Given the description of an element on the screen output the (x, y) to click on. 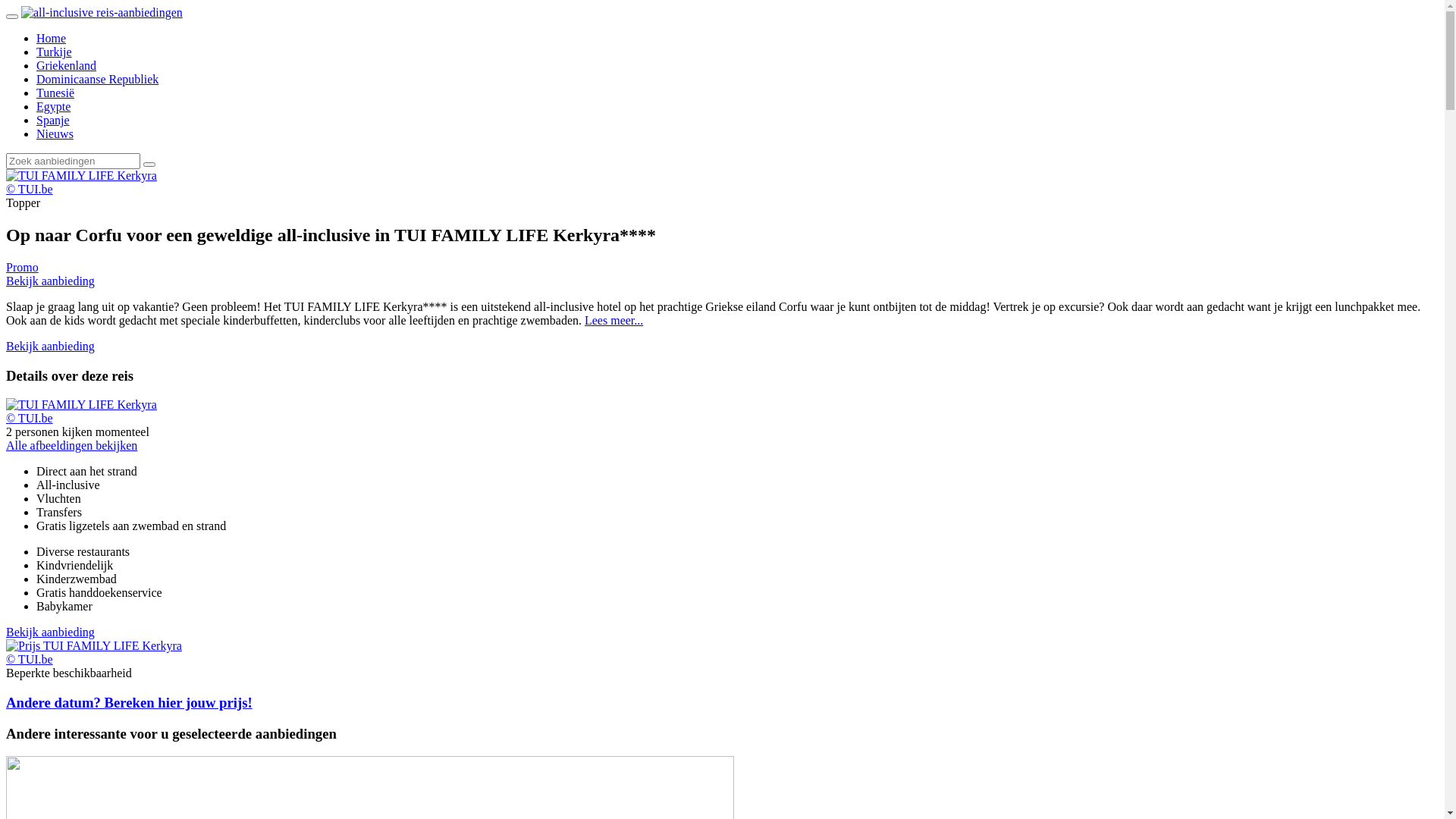
Griekenland Element type: text (66, 65)
Promo Element type: text (22, 266)
Turkije Element type: text (54, 51)
Alle afbeeldingen bekijken Element type: text (71, 445)
Spanje Element type: text (52, 119)
Nieuws Element type: text (54, 133)
Egypte Element type: text (53, 106)
Zoek aanbiedingen: Element type: hover (73, 161)
Bekijk aanbieding Element type: text (50, 631)
Lees meer... Element type: text (613, 319)
Andere datum? Bereken hier jouw prijs! Element type: text (722, 702)
Bekijk aanbieding Element type: text (50, 280)
Dominicaanse Republiek Element type: text (97, 78)
Home Element type: text (50, 37)
Bekijk aanbieding Element type: text (50, 345)
